Given the description of an element on the screen output the (x, y) to click on. 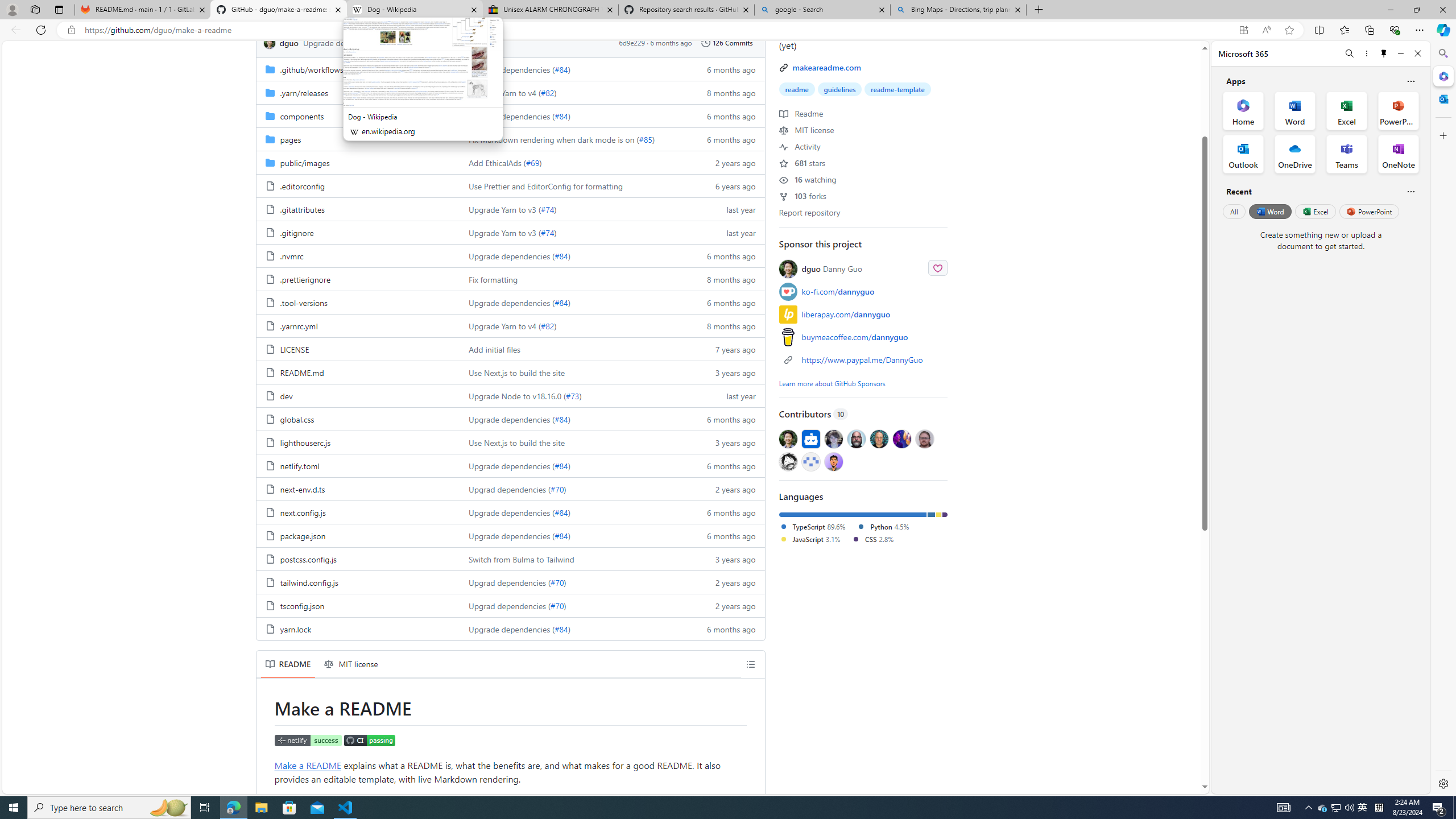
.github/workflows, (Directory) (358, 69)
AutomationID: folder-row-14 (510, 395)
Use Next.js to build the site (573, 441)
@mstrzele (809, 461)
Netlify Status (307, 741)
OneNote Office App (1398, 154)
Home Office App (1243, 110)
AutomationID: folder-row-1 (510, 92)
google - Search (822, 9)
MIT license (351, 664)
success (437, 42)
.tool-versions, (File) (358, 301)
AutomationID: folder-row-11 (510, 325)
@coderberry (856, 438)
Collections (1369, 29)
